Given the description of an element on the screen output the (x, y) to click on. 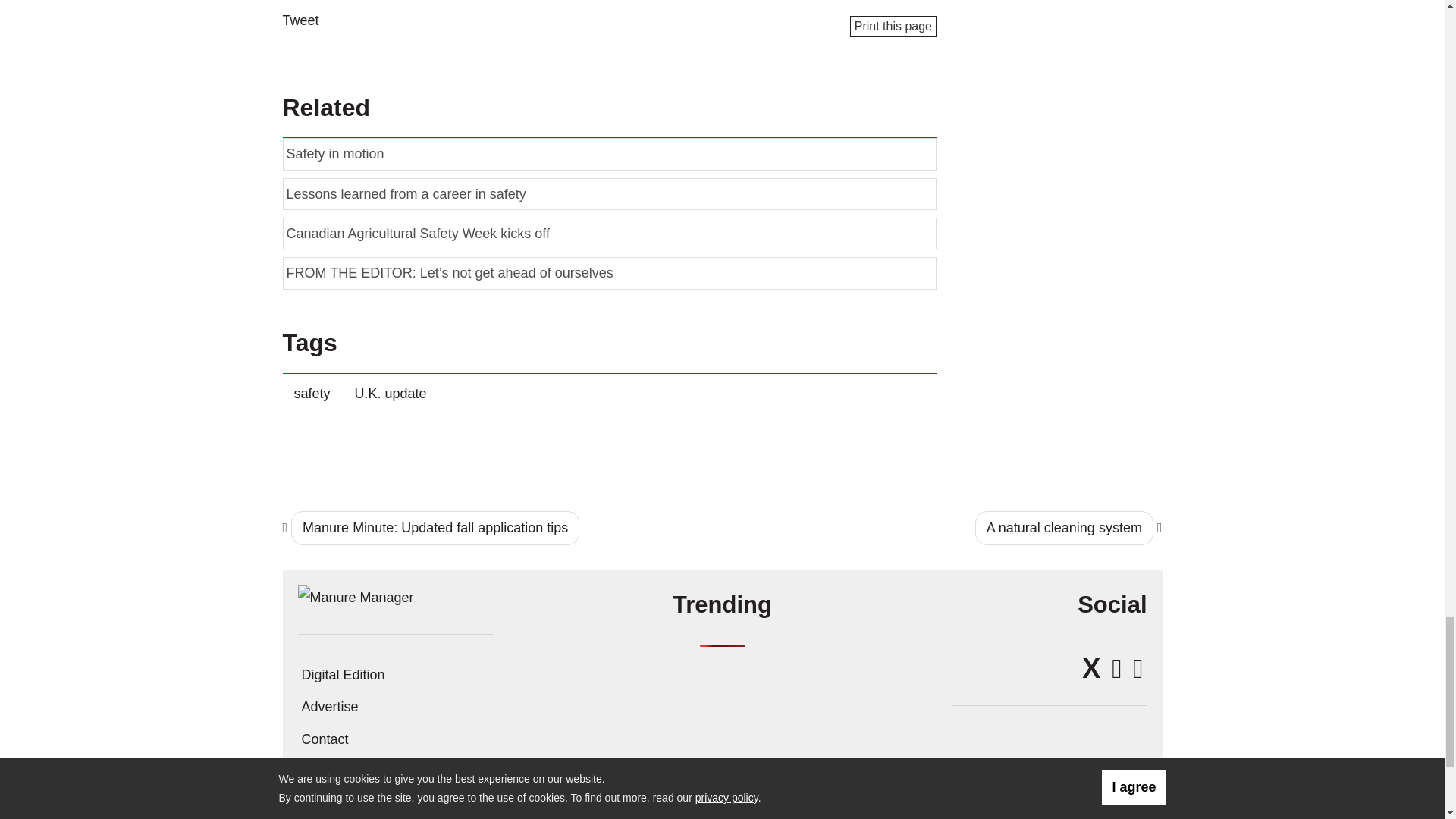
Manure Manager (355, 596)
